Given the description of an element on the screen output the (x, y) to click on. 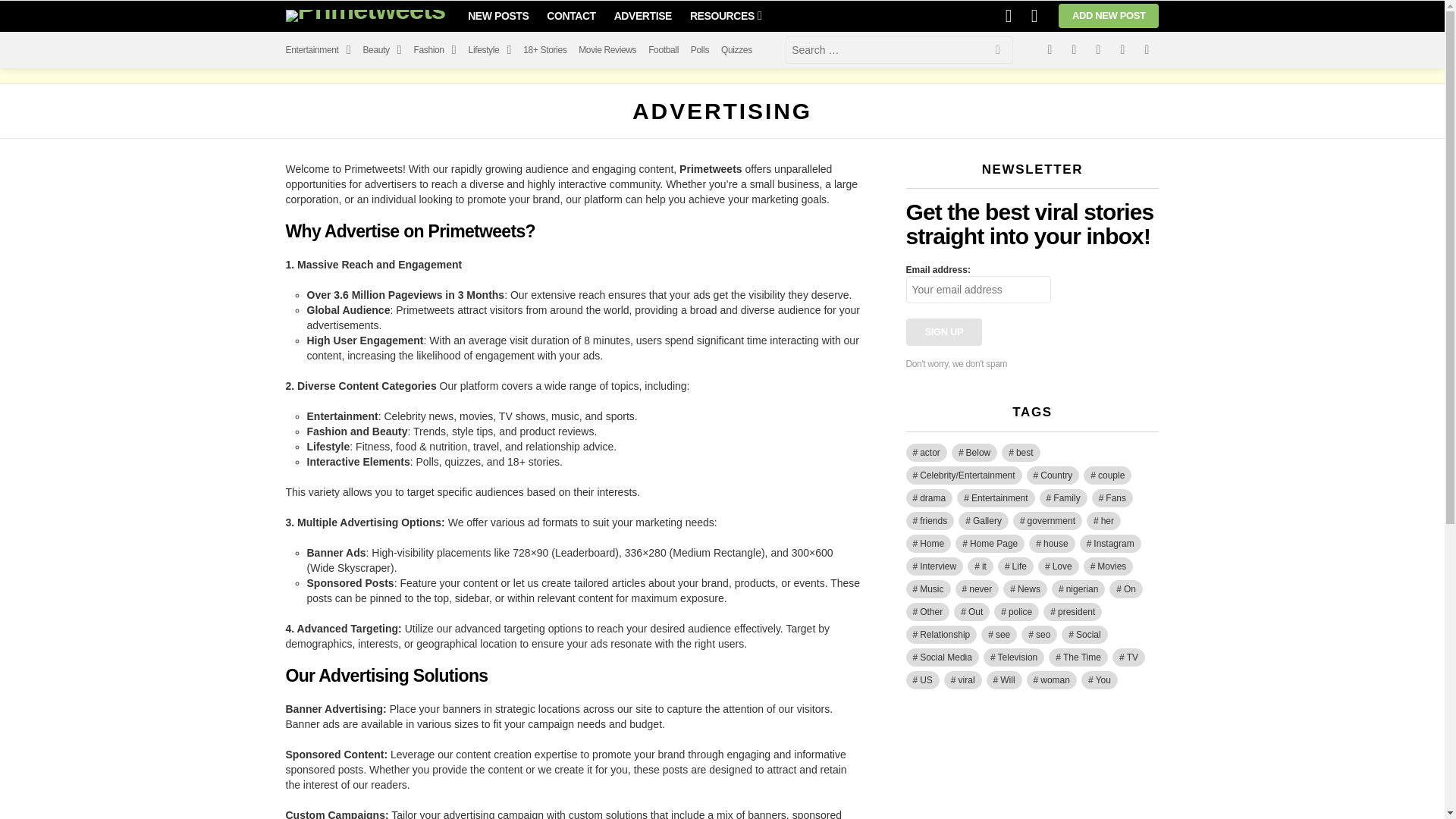
ADD NEW POST (1108, 15)
Entertainment (317, 49)
Search for: (899, 49)
ADVERTISE (643, 15)
Lifestyle (490, 49)
Beauty (381, 49)
Sign up (943, 331)
Movie Reviews (607, 49)
CONTACT (570, 15)
